Given the description of an element on the screen output the (x, y) to click on. 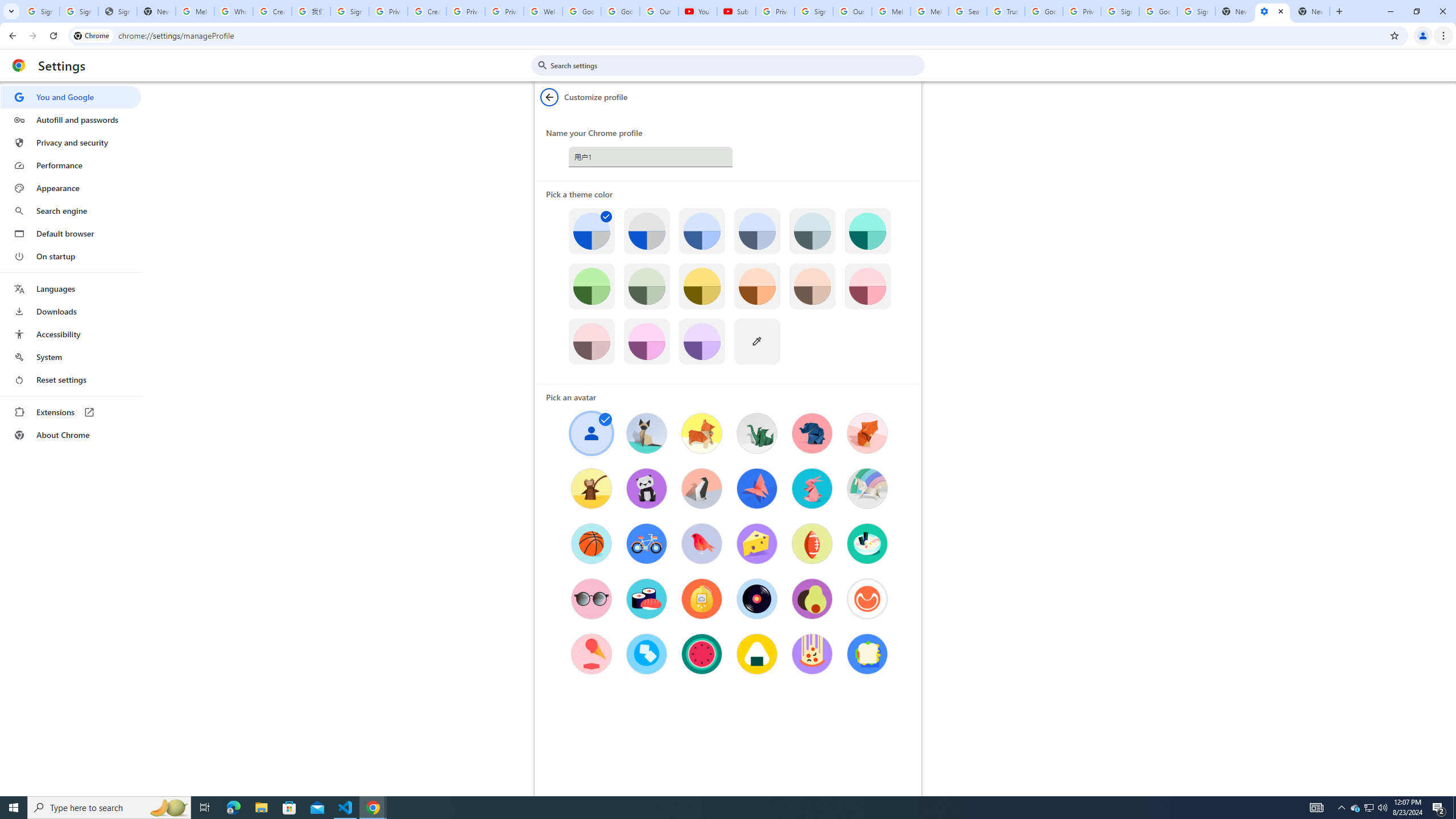
New Tab (1311, 11)
Autofill and passwords (70, 119)
Sign In - USA TODAY (117, 11)
YouTube (697, 11)
Create your Google Account (427, 11)
Search engine (70, 210)
About Chrome (70, 434)
